Given the description of an element on the screen output the (x, y) to click on. 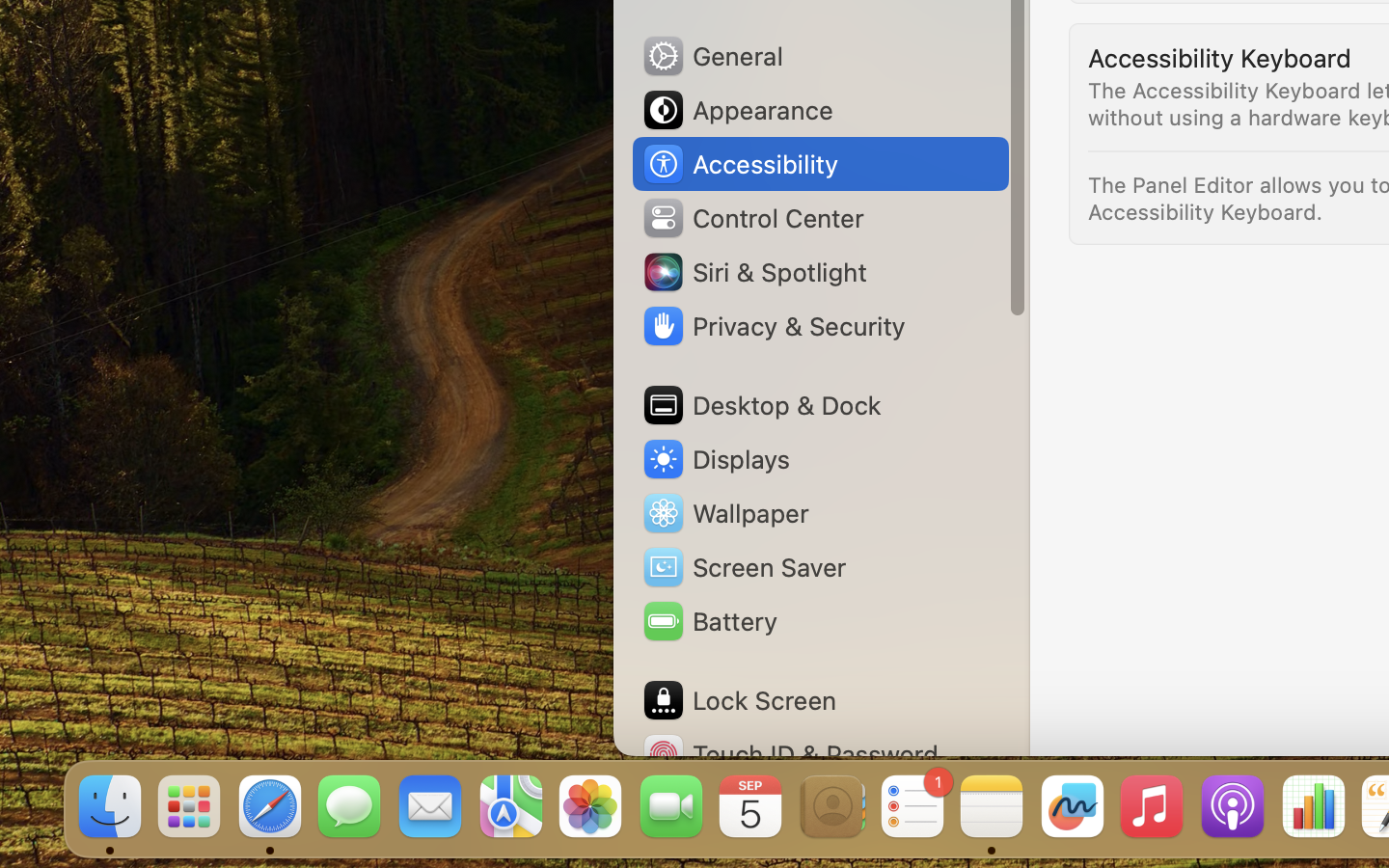
Battery Element type: AXStaticText (708, 620)
Screen Saver Element type: AXStaticText (743, 566)
Accessibility Keyboard Element type: AXStaticText (1220, 57)
Desktop & Dock Element type: AXStaticText (760, 404)
Lock Screen Element type: AXStaticText (738, 700)
